Given the description of an element on the screen output the (x, y) to click on. 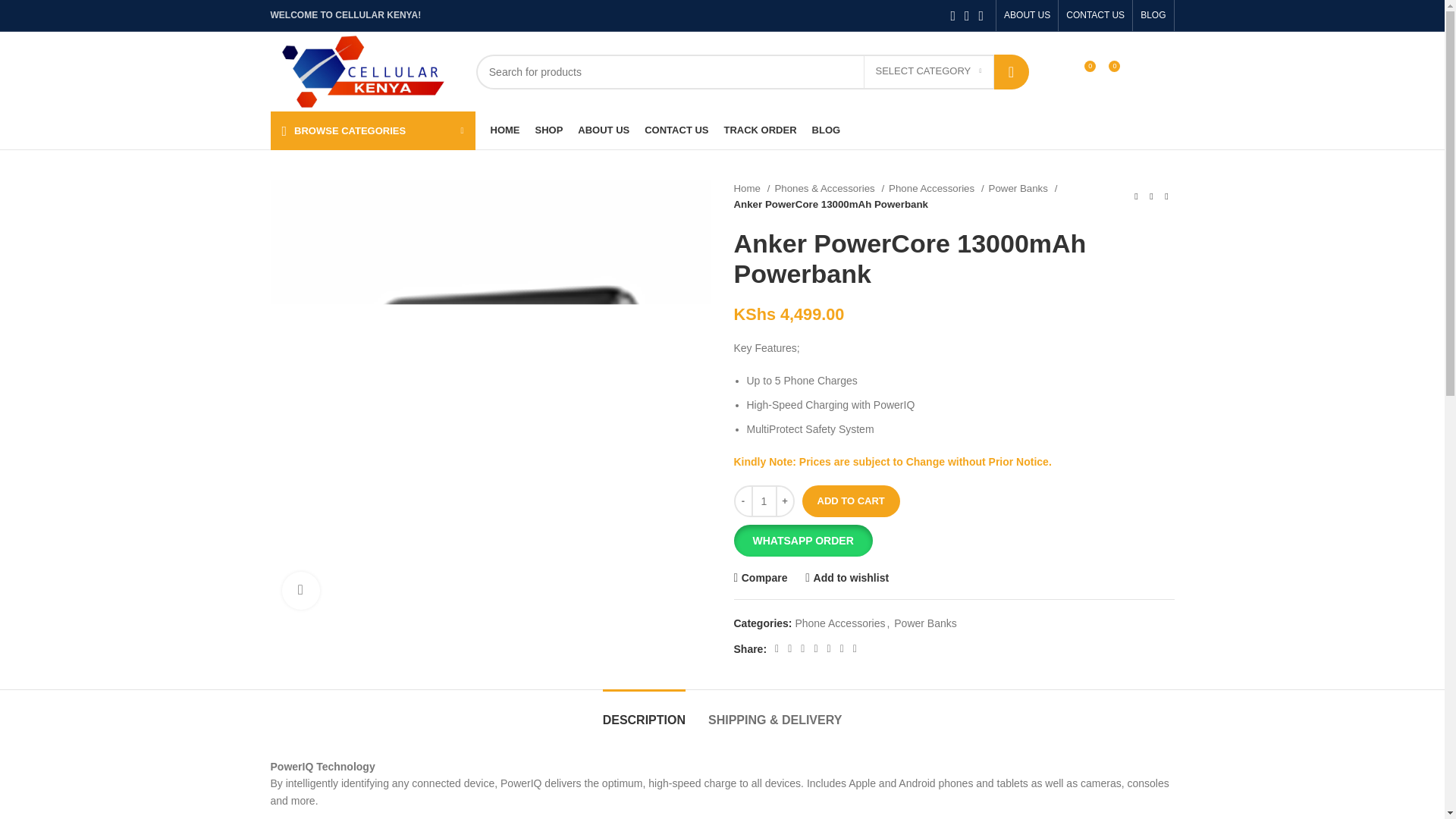
ABOUT US (1026, 15)
SELECT CATEGORY (928, 71)
SELECT CATEGORY (928, 71)
Search for products (752, 71)
CONTACT US (1094, 15)
Shopping cart (1140, 71)
